Given the description of an element on the screen output the (x, y) to click on. 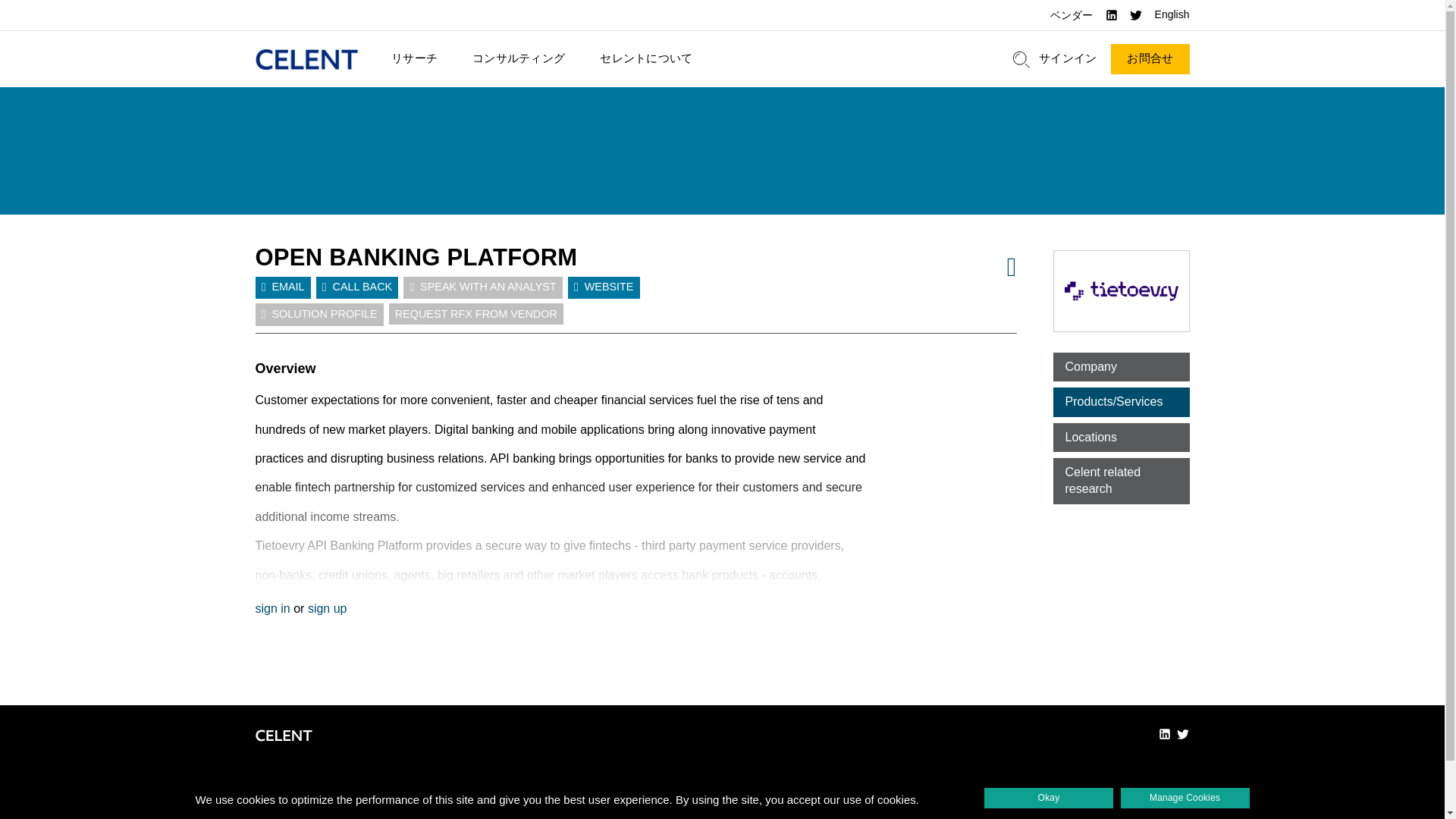
Manage Cookies (1185, 797)
Okay (1048, 797)
English (1171, 14)
Home (306, 59)
search (1020, 58)
